Given the description of an element on the screen output the (x, y) to click on. 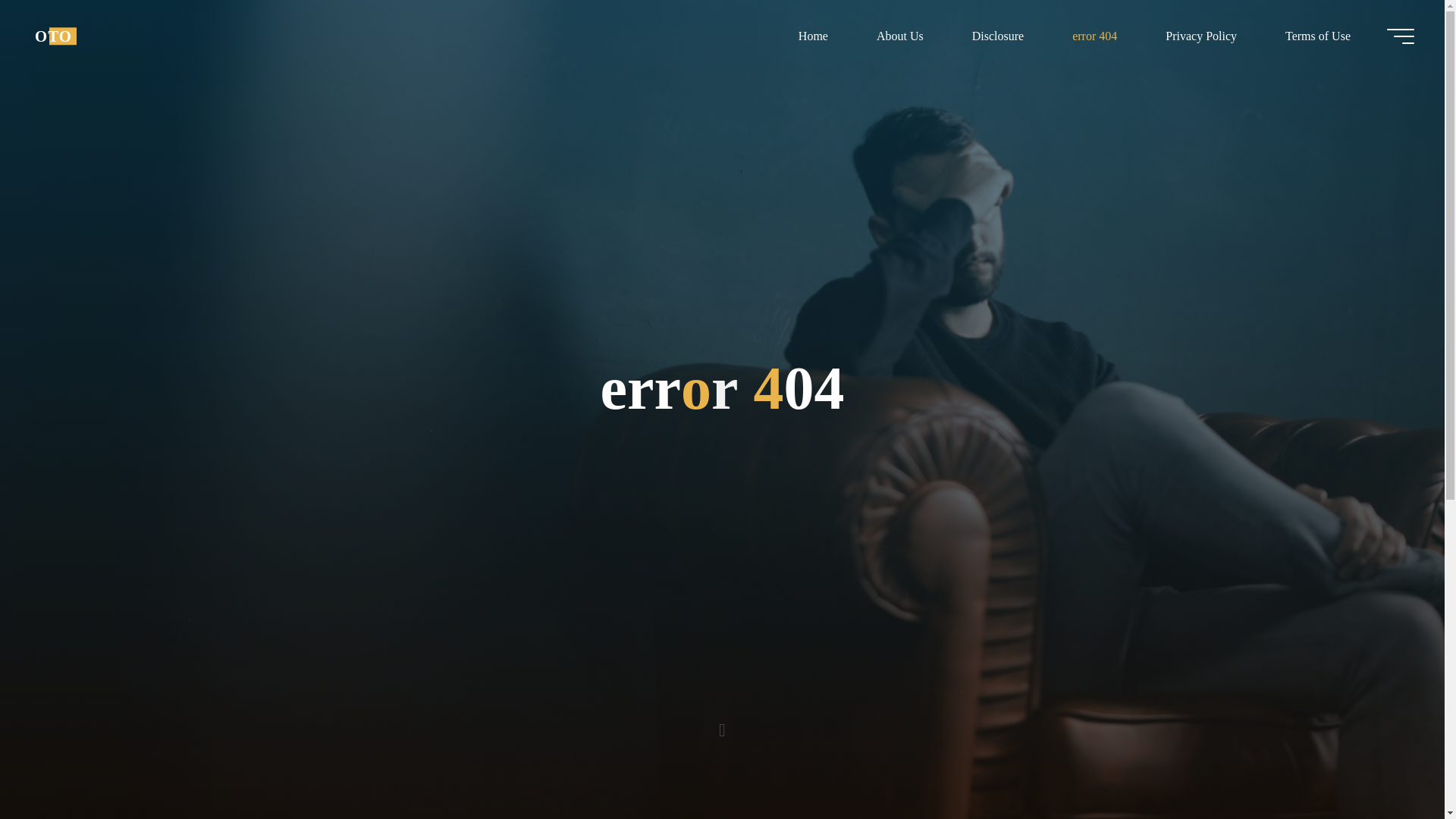
Home (812, 35)
error 404 (1094, 35)
Disclosure (997, 35)
OTO (53, 36)
Terms of Use (1317, 35)
About Us (899, 35)
Read more (721, 724)
Privacy Policy (1200, 35)
